Given the description of an element on the screen output the (x, y) to click on. 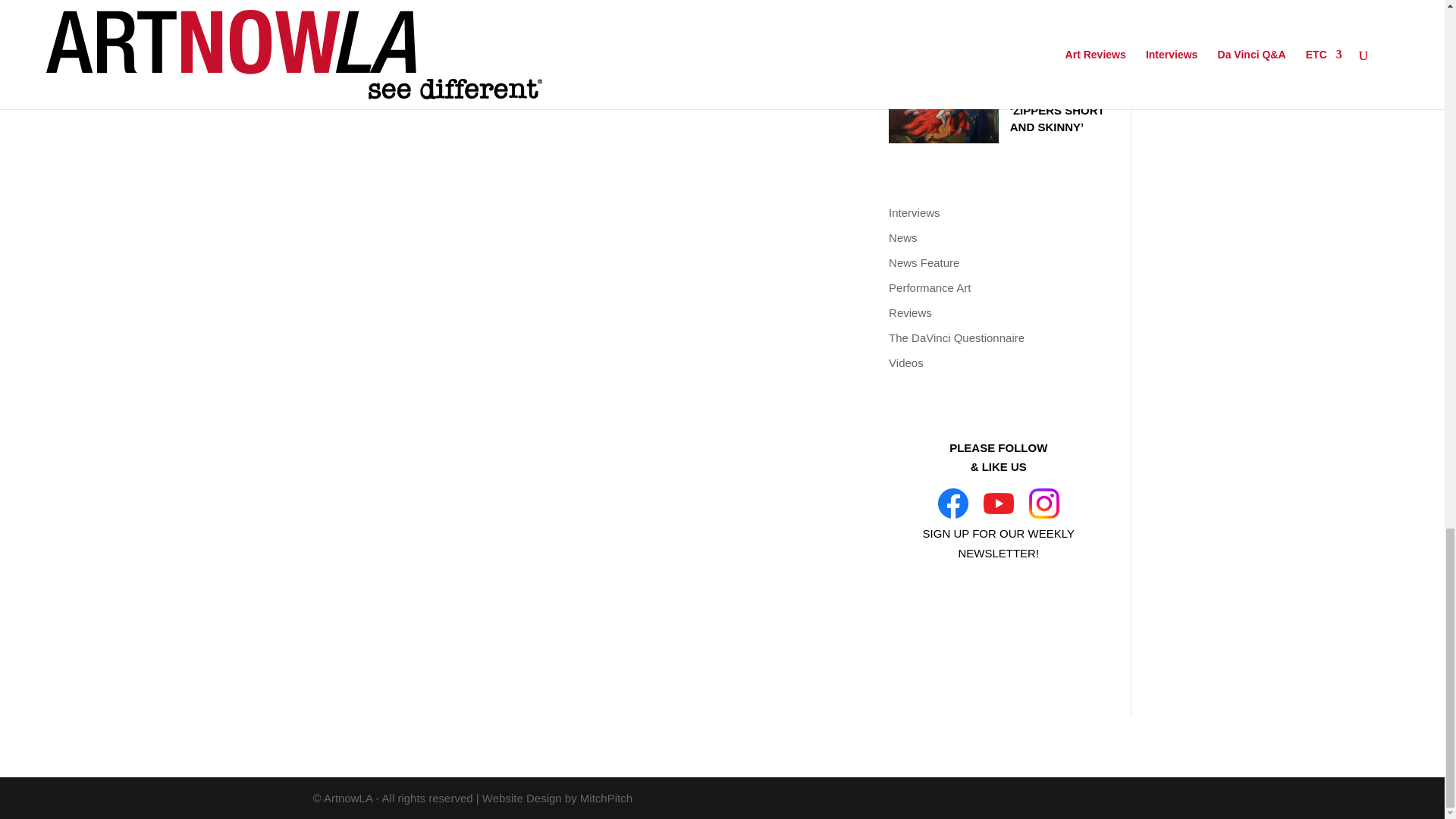
The DaVinci Questionnaire (956, 337)
Performance Art (929, 287)
Interviews (914, 212)
News (902, 237)
News Feature (923, 262)
Reviews (909, 312)
Videos (905, 362)
